Given the description of an element on the screen output the (x, y) to click on. 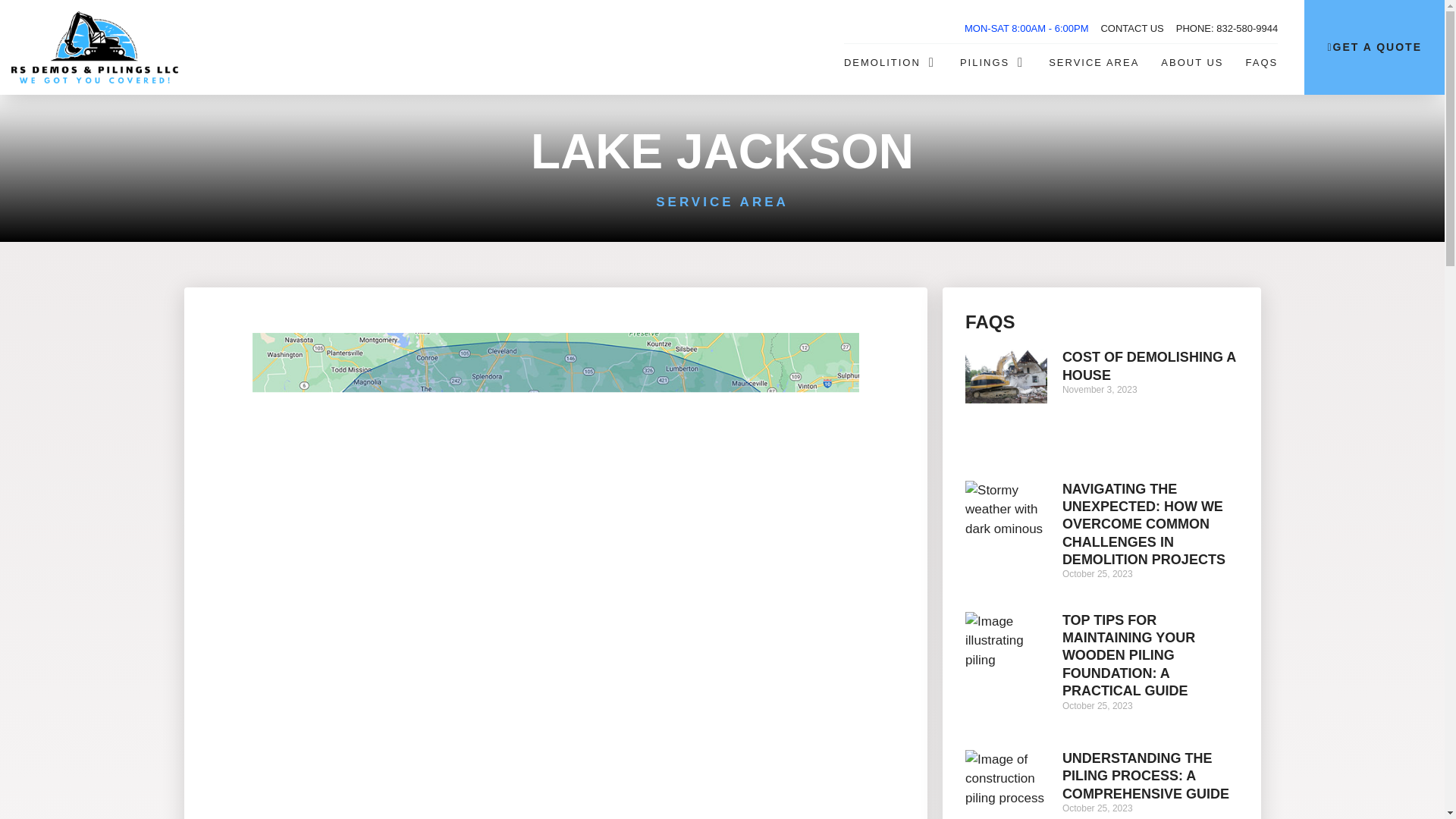
FAQS (1262, 62)
ABOUT US (1191, 62)
GET A QUOTE (1374, 47)
PHONE: 832-580-9944 (1227, 28)
CONTACT US (1131, 28)
UNDERSTANDING THE PILING PROCESS: A COMPREHENSIVE GUIDE (1145, 776)
COST OF DEMOLISHING A HOUSE (1149, 365)
PILINGS (984, 62)
